Given the description of an element on the screen output the (x, y) to click on. 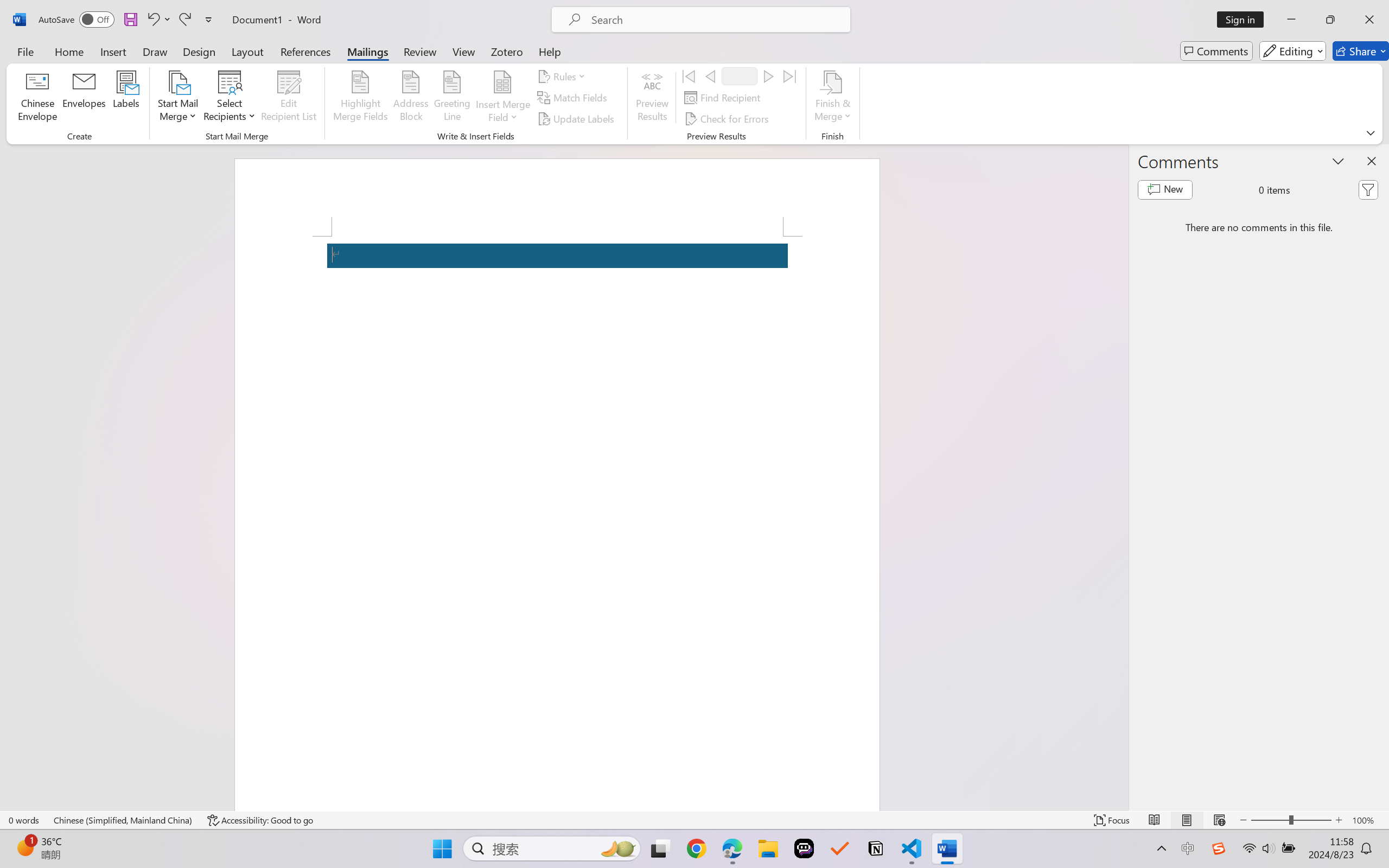
Address Block... (410, 97)
